Given the description of an element on the screen output the (x, y) to click on. 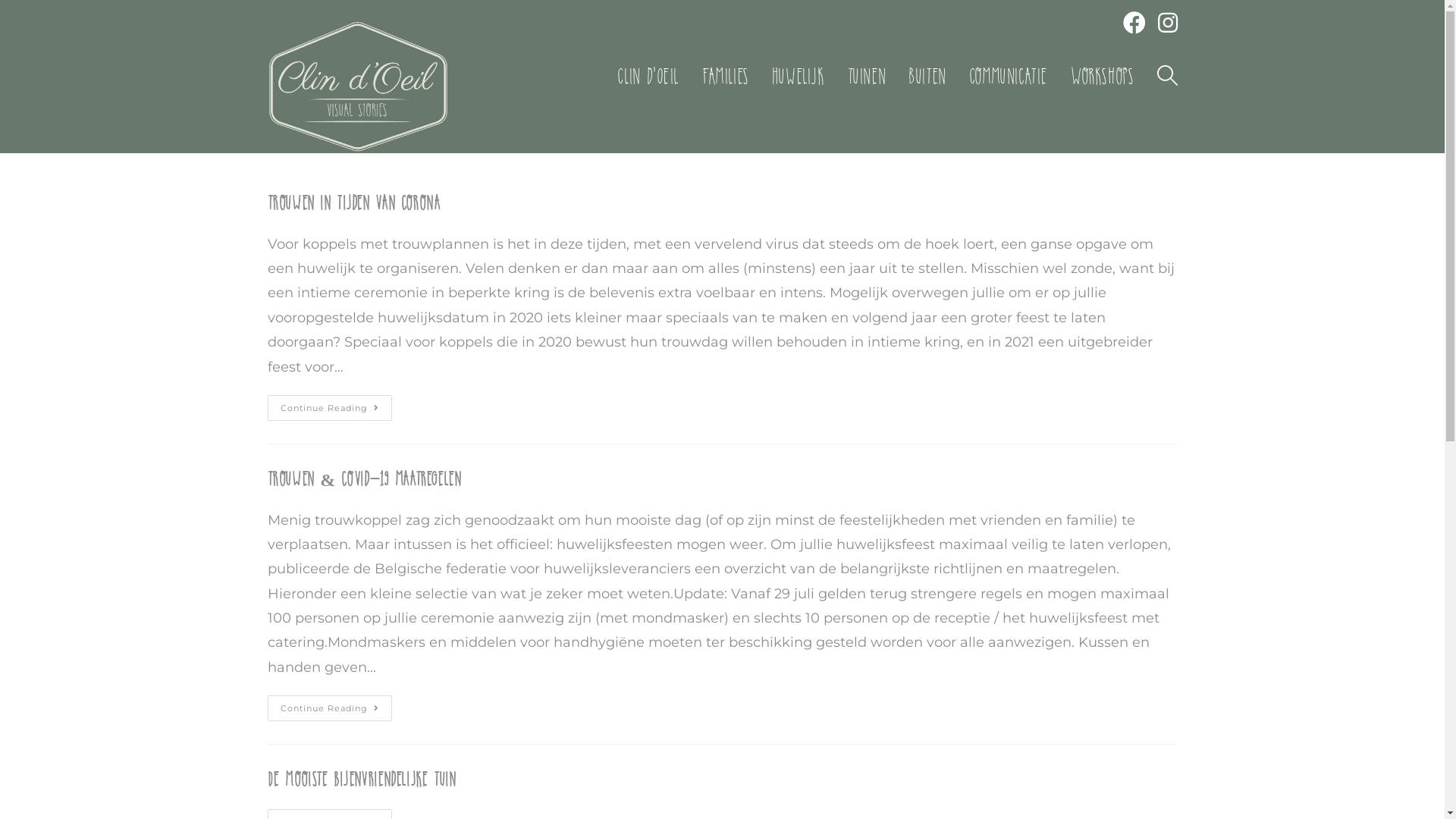
Families Element type: text (725, 76)
De mooiste bijenvriendelijke tuin Element type: text (360, 779)
Trouwen in tijden van corona Element type: text (353, 202)
Communicatie Element type: text (1008, 76)
Continue Reading
Trouwen In Tijden Van Corona Element type: text (328, 407)
Tuinen Element type: text (866, 76)
Trouwen & covid-19 maatregelen Element type: text (363, 478)
Continue Reading
Trouwen & Covid-19 Maatregelen Element type: text (328, 708)
Toggle website search Element type: text (1166, 76)
Buiten Element type: text (927, 76)
Huwelijk Element type: text (798, 76)
Workshops Element type: text (1102, 76)
